Given the description of an element on the screen output the (x, y) to click on. 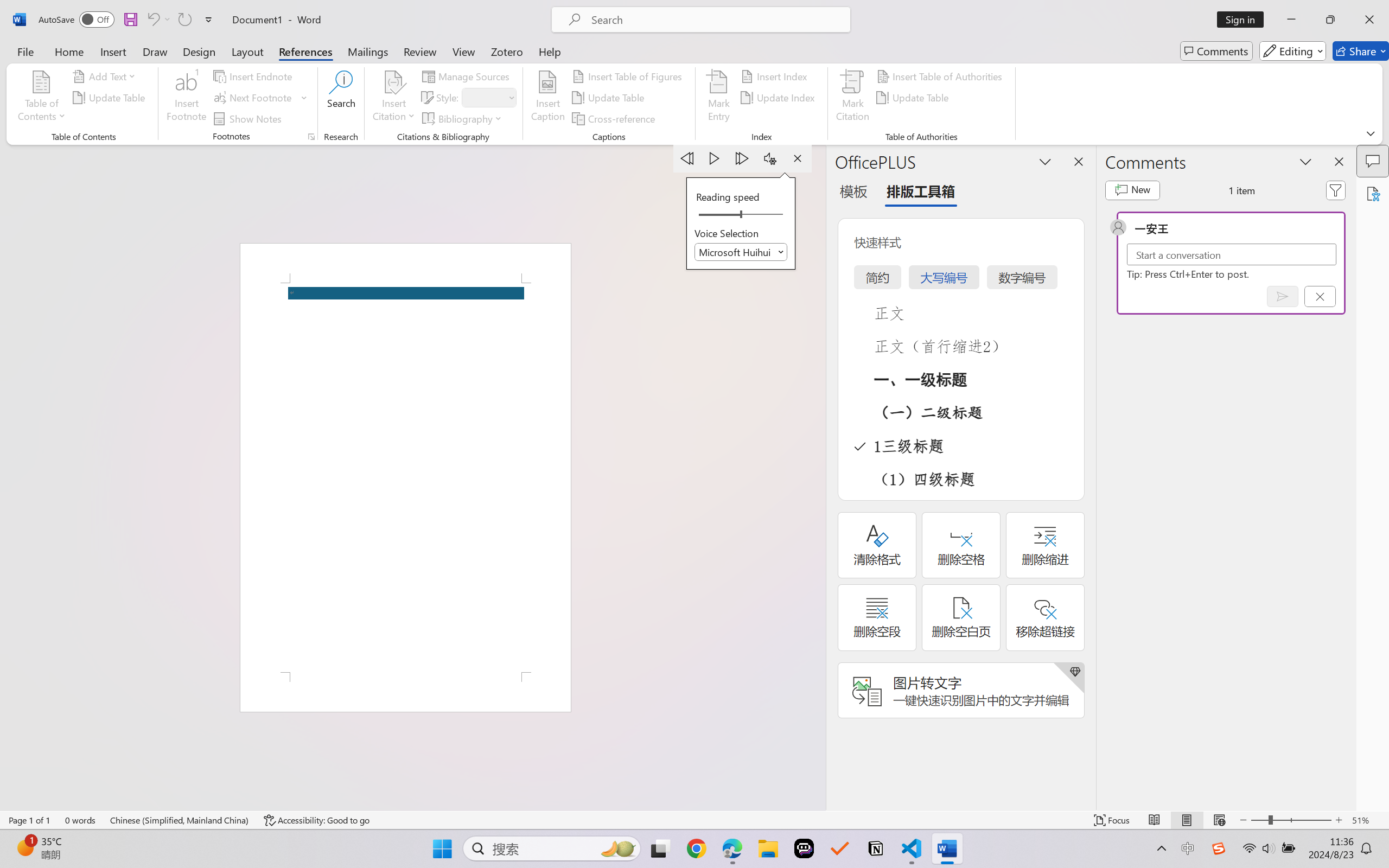
Update Table... (110, 97)
Stop (797, 158)
Next Footnote (260, 97)
Mark Entry... (718, 97)
Update Table (914, 97)
